Given the description of an element on the screen output the (x, y) to click on. 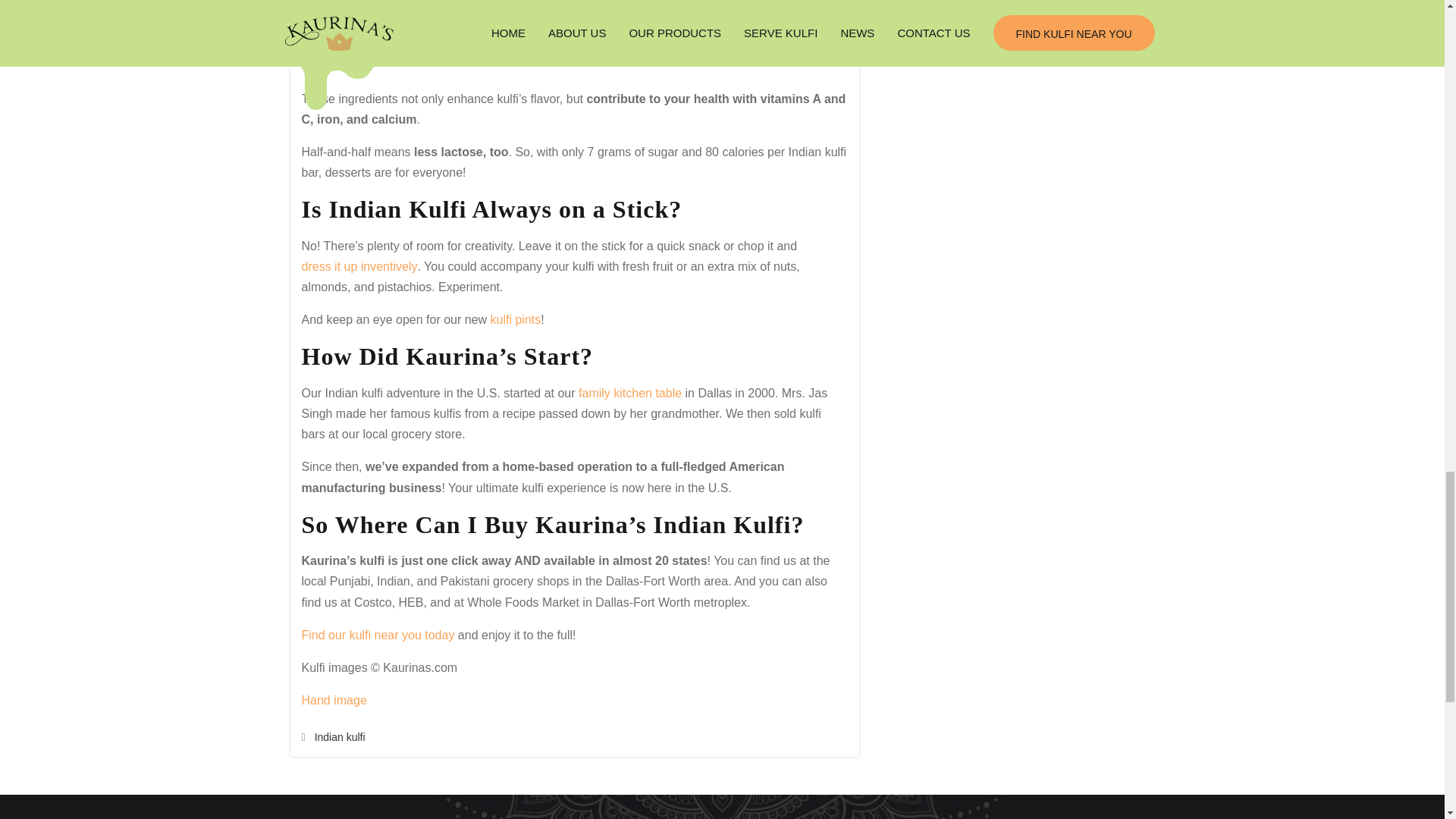
family kitchen table (629, 393)
kulfi pints (515, 319)
Find our kulfi near you today (377, 634)
Hand image (333, 700)
Indian kulfi (339, 736)
dress it up inventively (359, 266)
natural ingredients (692, 24)
